Given the description of an element on the screen output the (x, y) to click on. 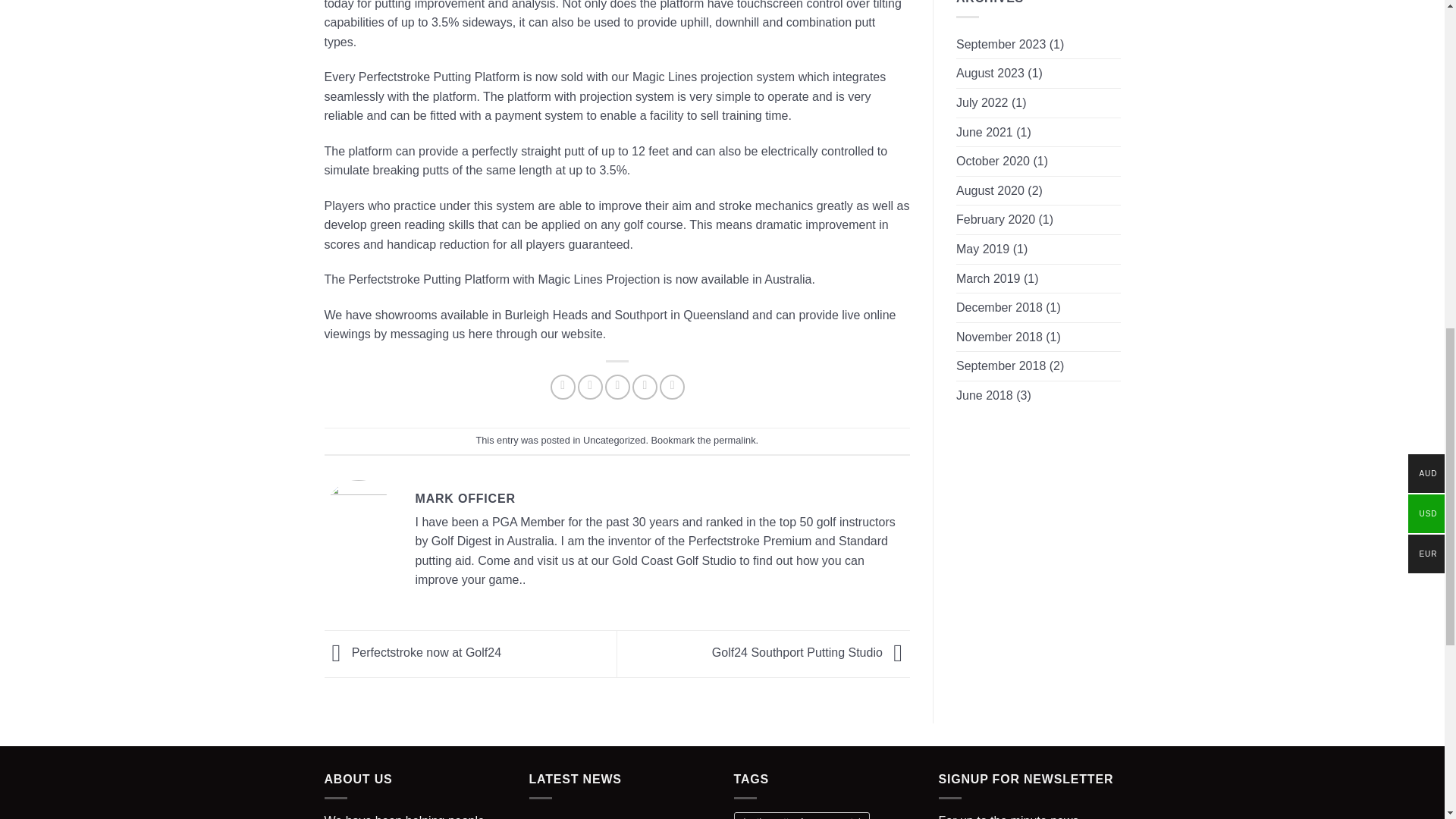
Uncategorized (614, 439)
Share on Facebook (562, 386)
Golf24 Southport Putting Studio (810, 652)
Email to a Friend (617, 386)
permalink (734, 439)
Perfectstroke now at Golf24 (413, 652)
Pin on Pinterest (644, 386)
Share on Twitter (590, 386)
Share on LinkedIn (671, 386)
